Given the description of an element on the screen output the (x, y) to click on. 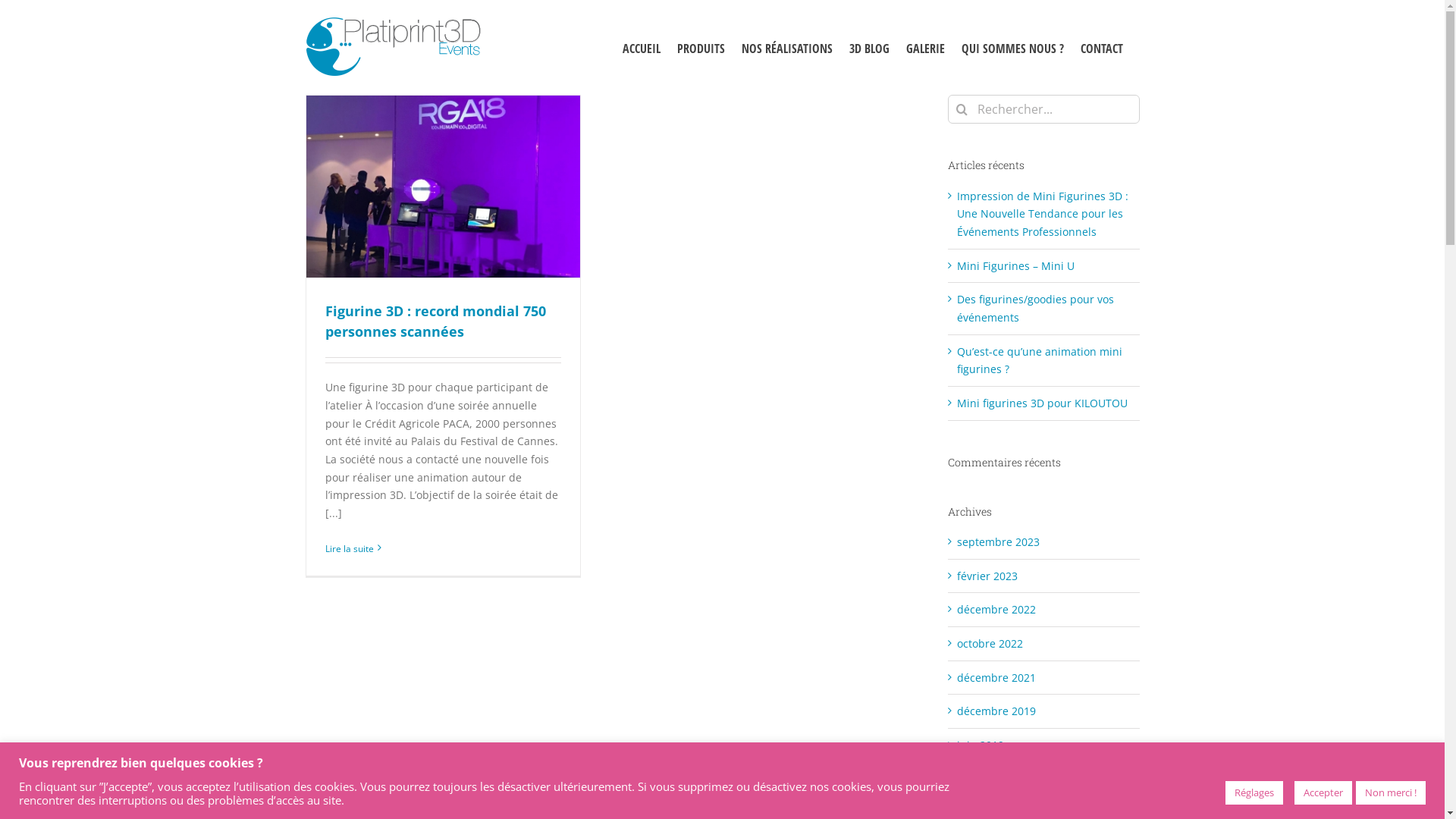
Non merci ! Element type: text (1390, 792)
septembre 2023 Element type: text (998, 541)
CONTACT Element type: text (1100, 47)
octobre 2022 Element type: text (989, 643)
ACCUEIL Element type: text (640, 47)
Mini figurines 3D pour KILOUTOU Element type: text (1042, 402)
3D BLOG Element type: text (869, 47)
GALERIE Element type: text (924, 47)
PRODUITS Element type: text (700, 47)
Accepter Element type: text (1323, 792)
QUI SOMMES NOUS ? Element type: text (1012, 47)
juin 2019 Element type: text (980, 744)
mai 2019 Element type: text (980, 778)
Lire la suite Element type: text (348, 548)
